Given the description of an element on the screen output the (x, y) to click on. 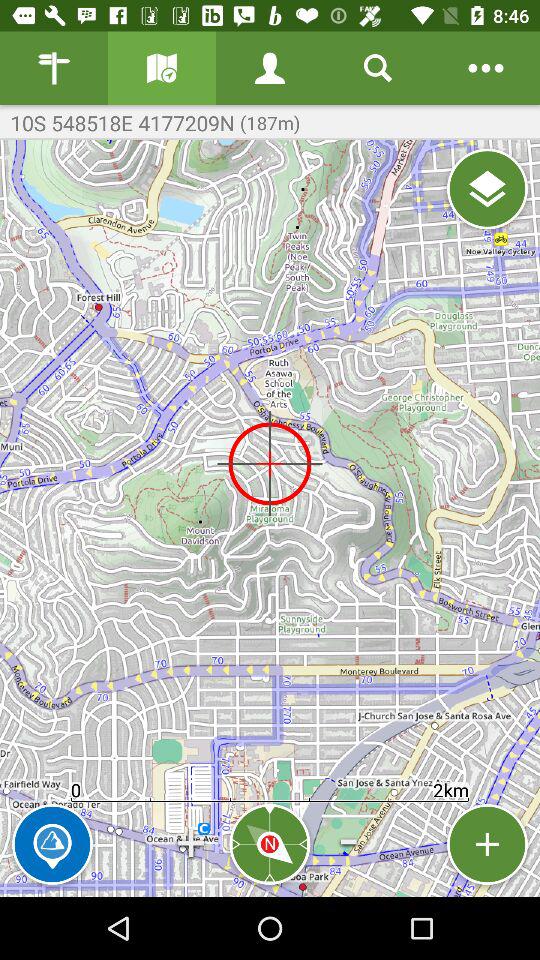
search (378, 68)
